Given the description of an element on the screen output the (x, y) to click on. 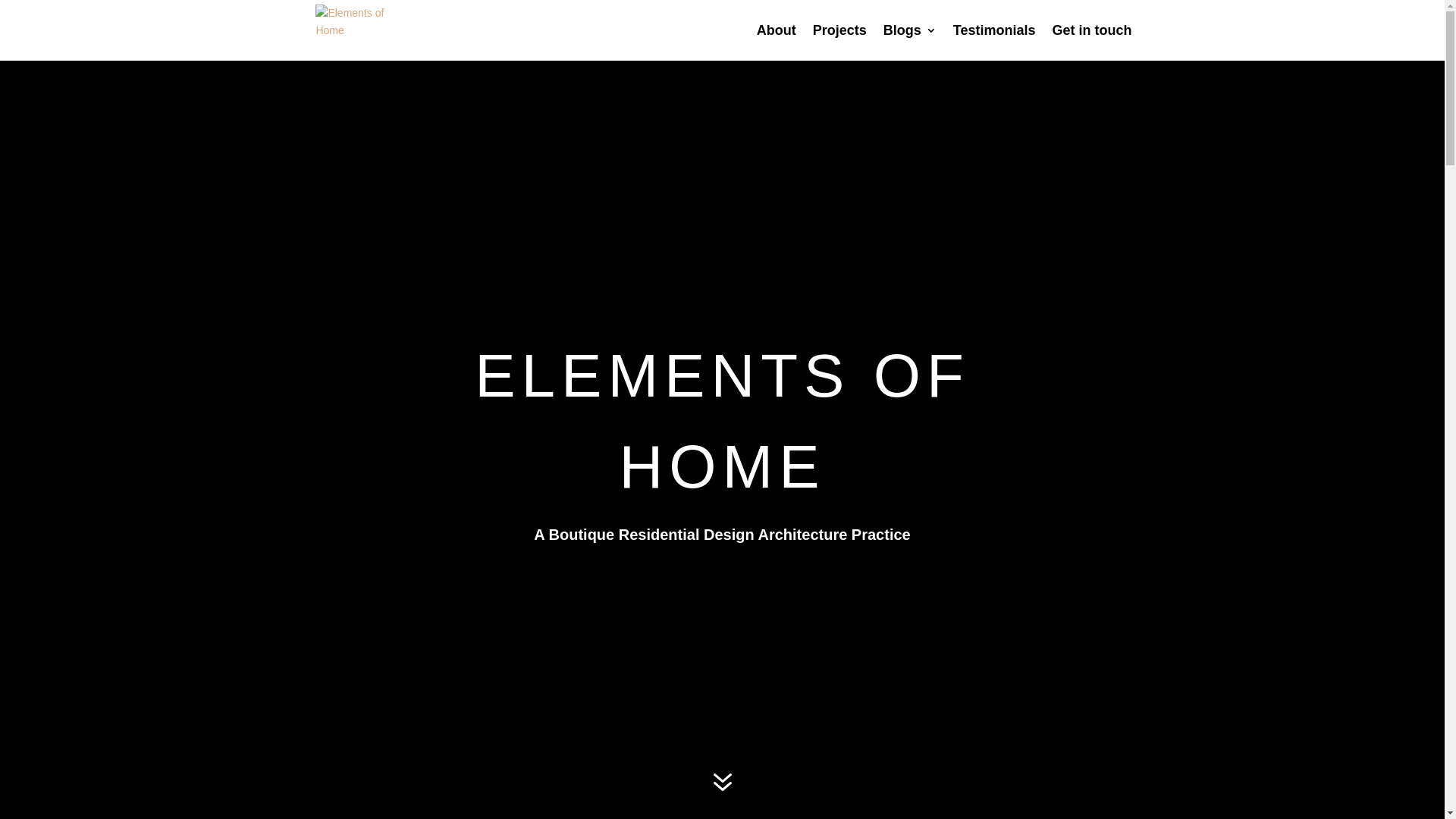
About Element type: text (776, 42)
Testimonials Element type: text (994, 42)
Get in touch Element type: text (1092, 42)
7 Element type: text (721, 782)
Blogs Element type: text (909, 42)
Projects Element type: text (839, 42)
